Given the description of an element on the screen output the (x, y) to click on. 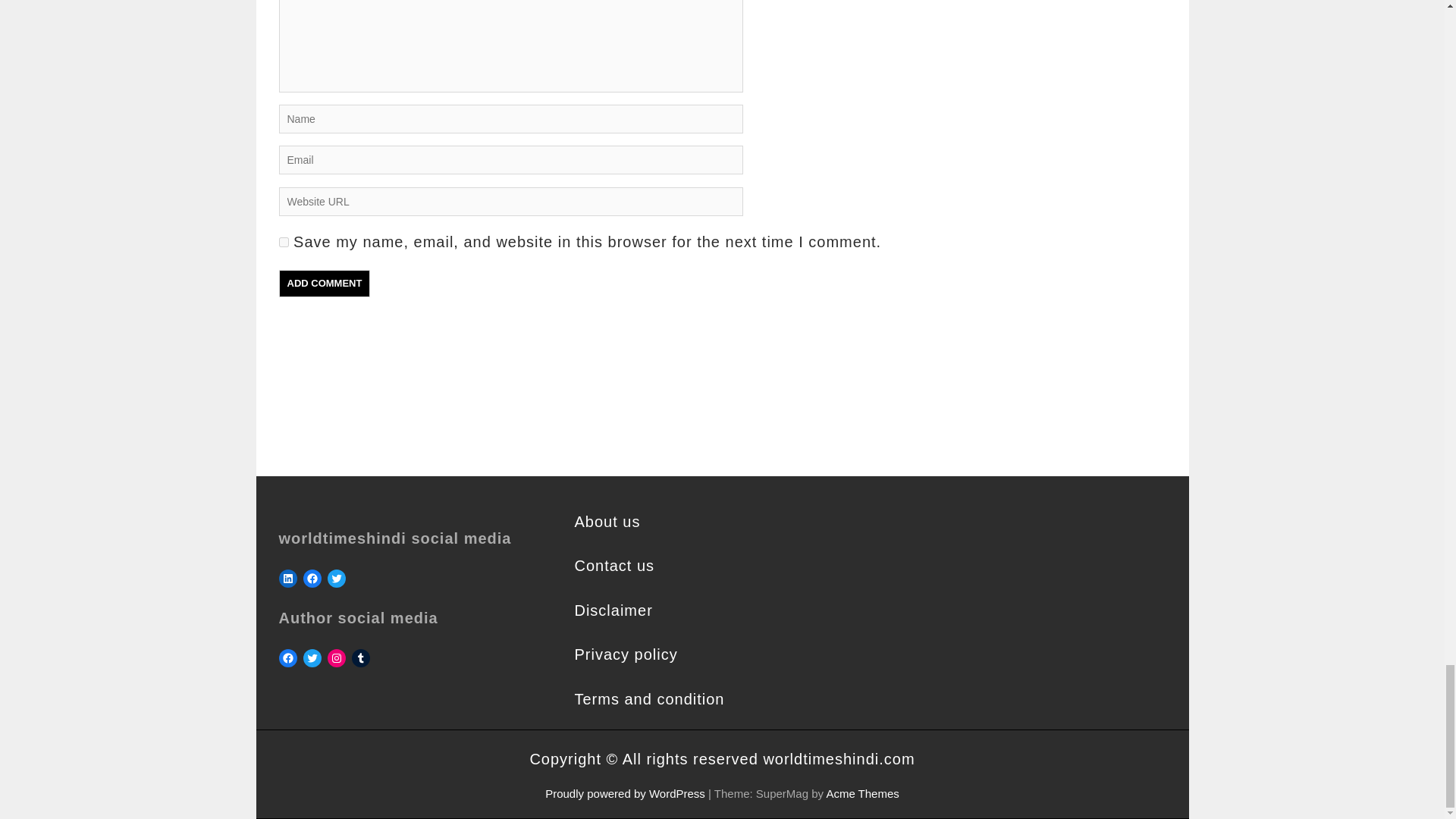
Add Comment (325, 283)
yes (283, 242)
